Given the description of an element on the screen output the (x, y) to click on. 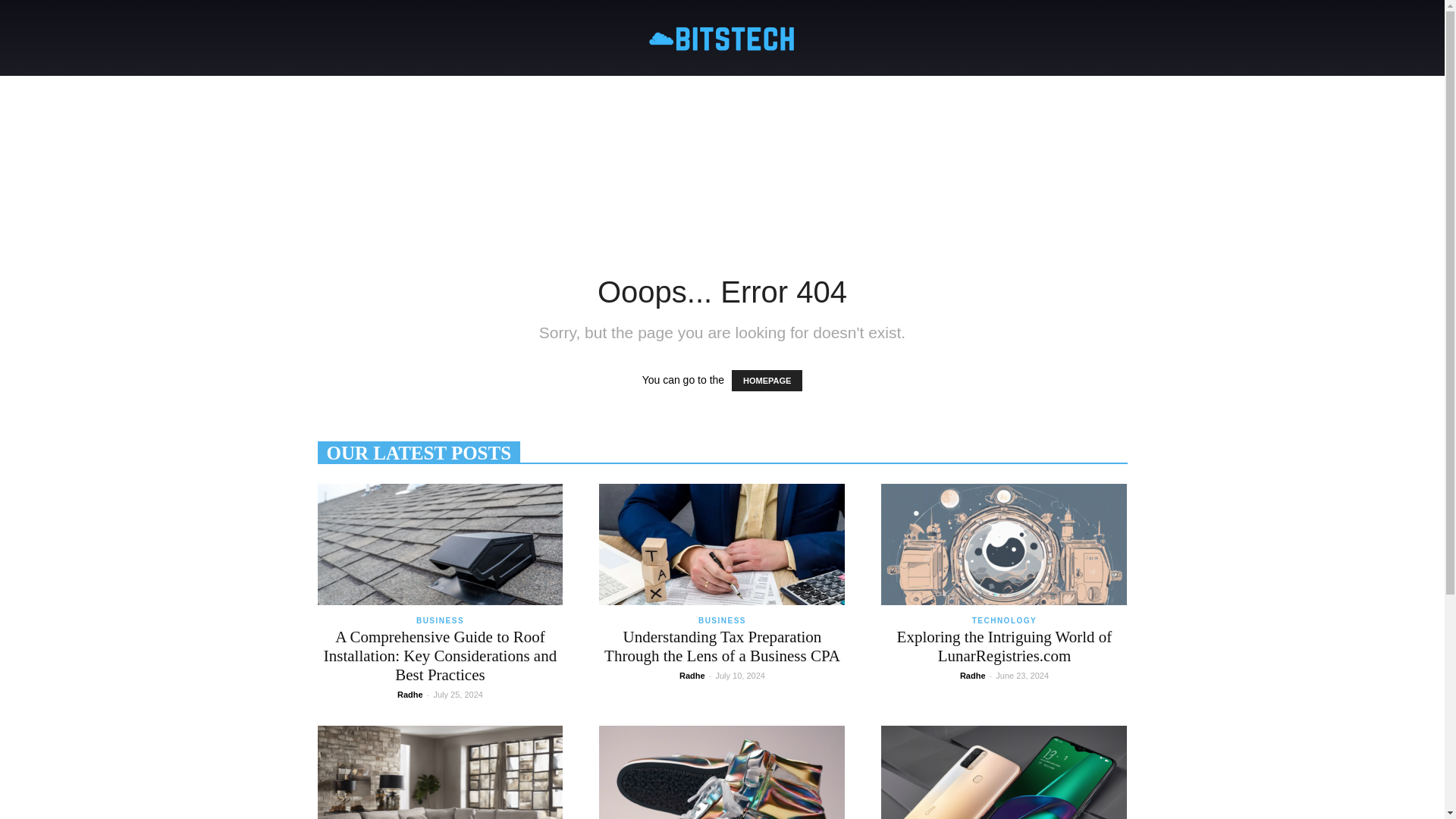
Advertisement (721, 201)
HOME (390, 94)
Exploring the Intriguing World of LunarRegistries.com (1003, 544)
INNOVATIONS (683, 94)
RESOURCES (878, 94)
HOMEPAGE (767, 380)
BUSINESS (439, 621)
TECHNOLOGY (476, 94)
MORE (1047, 94)
Search (1085, 154)
